Given the description of an element on the screen output the (x, y) to click on. 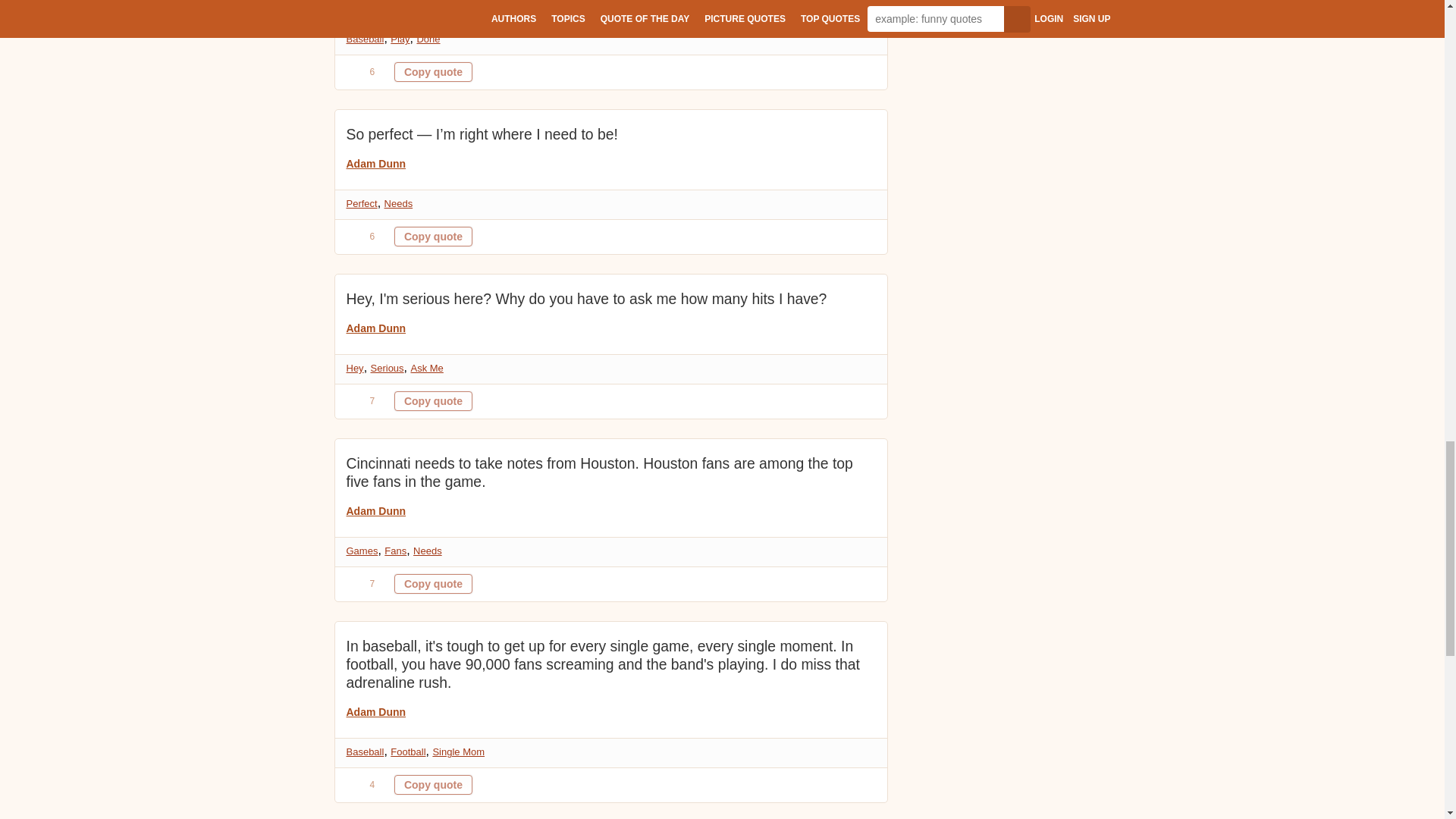
Quote is copied (432, 784)
Quote is copied (432, 236)
Quote is copied (432, 583)
Quote is copied (432, 401)
Quote is copied (432, 71)
